Given the description of an element on the screen output the (x, y) to click on. 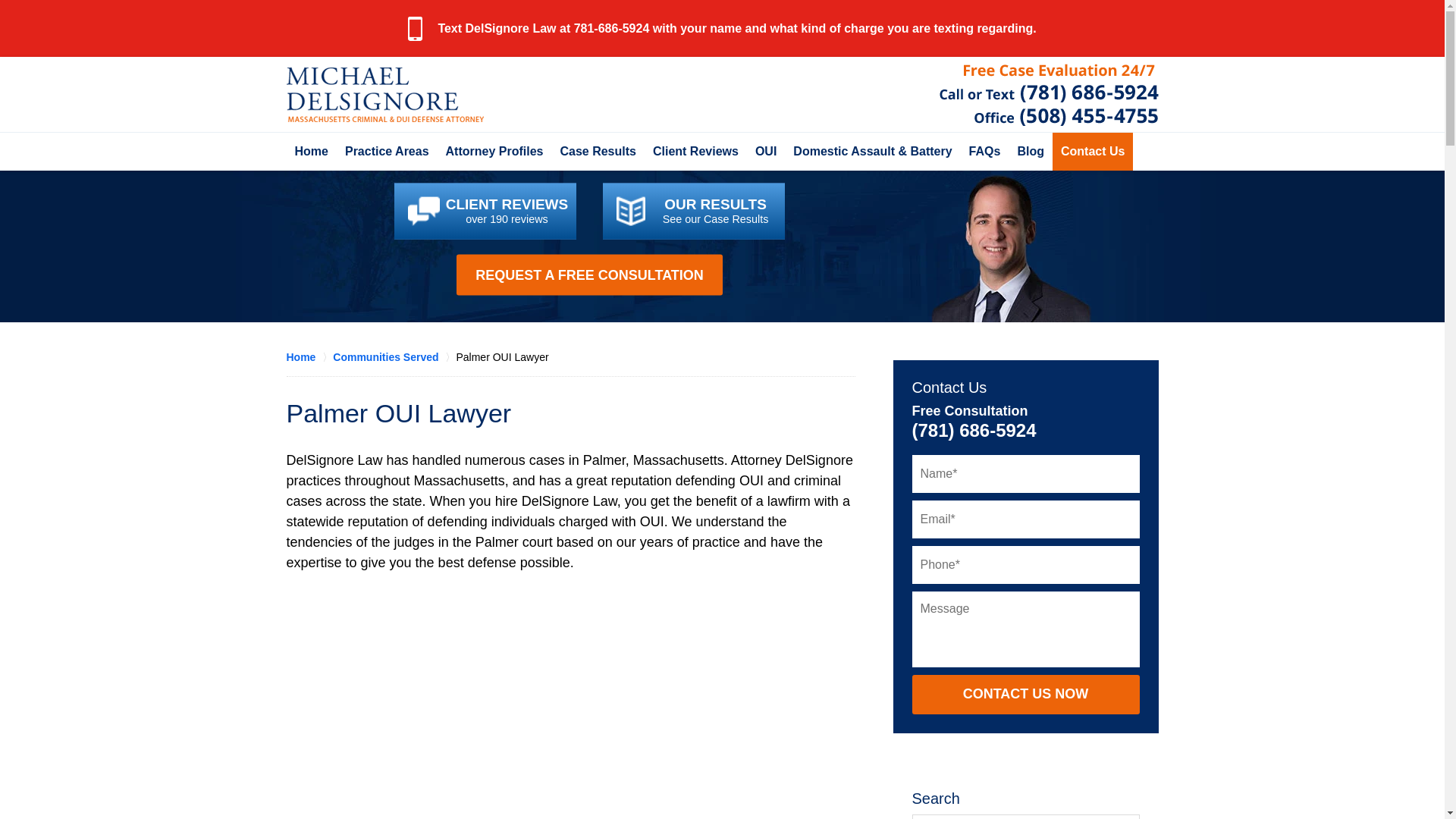
Hampden County DUI Attorney DelSignore Law Home (384, 94)
Client Reviews (695, 151)
Search (1024, 816)
Attorney Profiles (494, 151)
Contact Palmer OUI Lawyer DelSignore Law (1048, 94)
Case Results (598, 151)
Home (311, 151)
OUI (765, 151)
Practice Areas (387, 151)
Back to Home (384, 94)
